Given the description of an element on the screen output the (x, y) to click on. 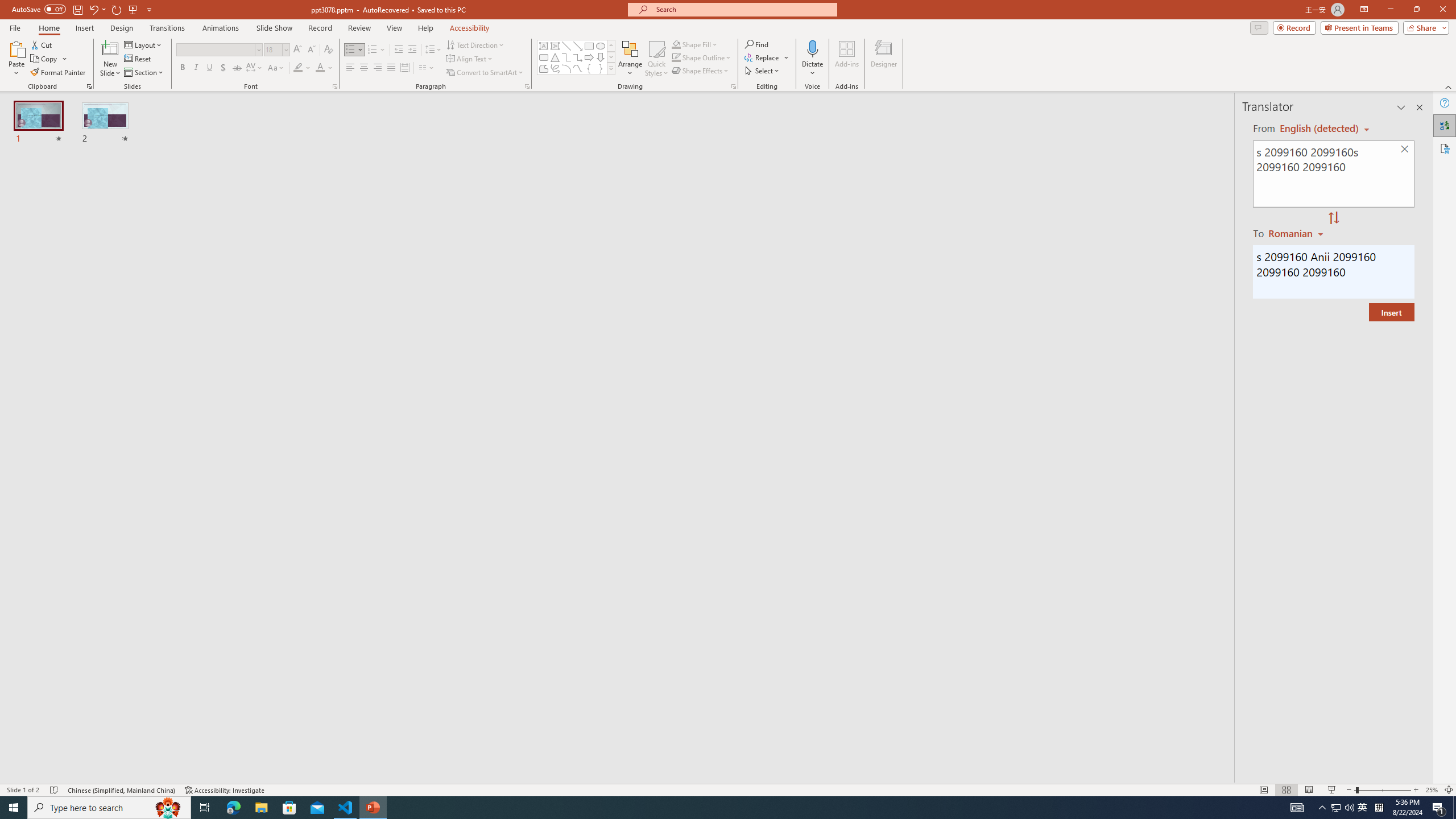
Clear text (1404, 149)
